Given the description of an element on the screen output the (x, y) to click on. 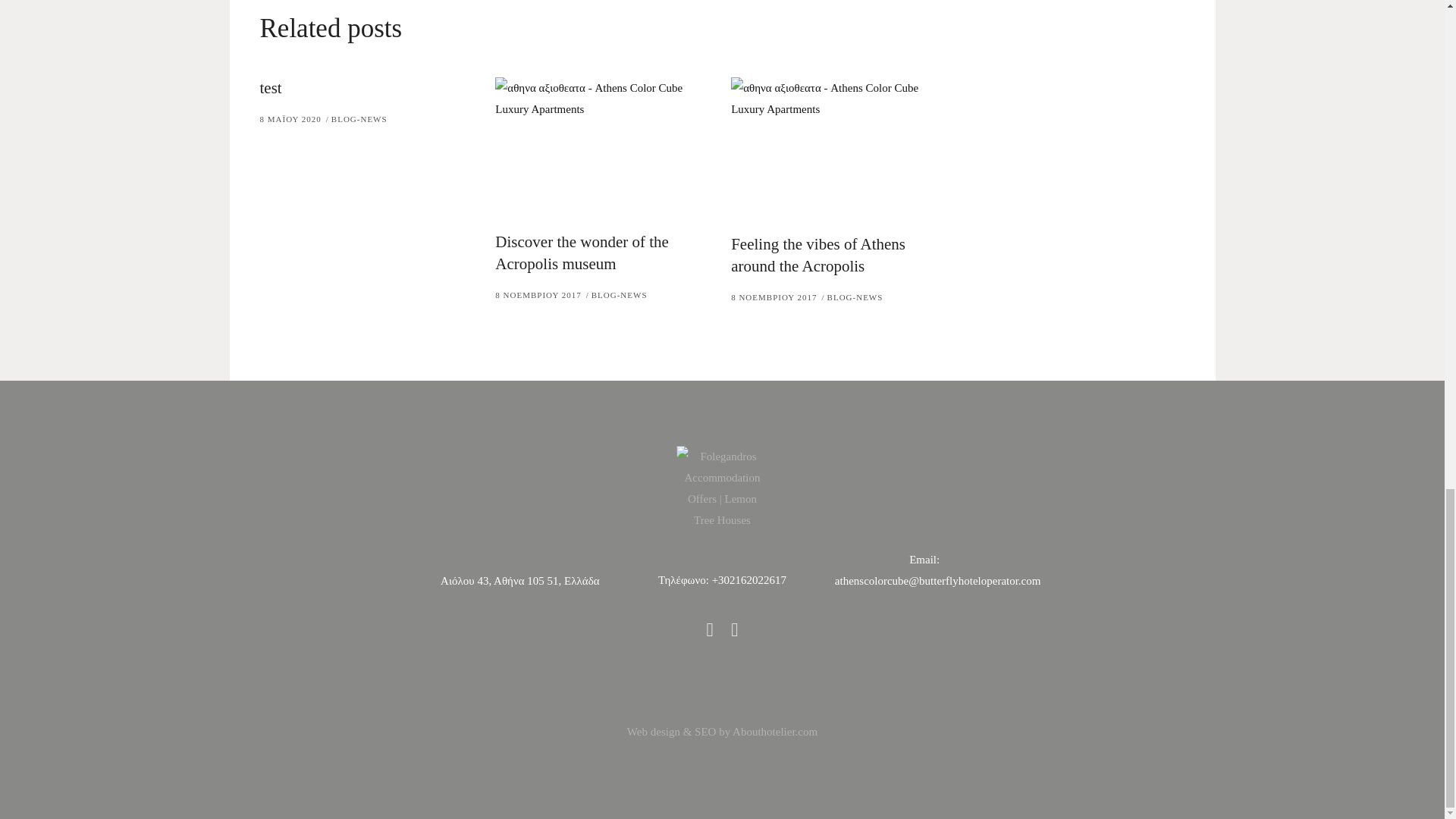
test (270, 87)
Feeling the vibes of Athens around the Acropolis (836, 148)
Feeling the vibes of Athens around the Acropolis (817, 255)
Discover the wonder of the Acropolis museum (601, 147)
Discover the wonder of the Acropolis museum (581, 252)
